Given the description of an element on the screen output the (x, y) to click on. 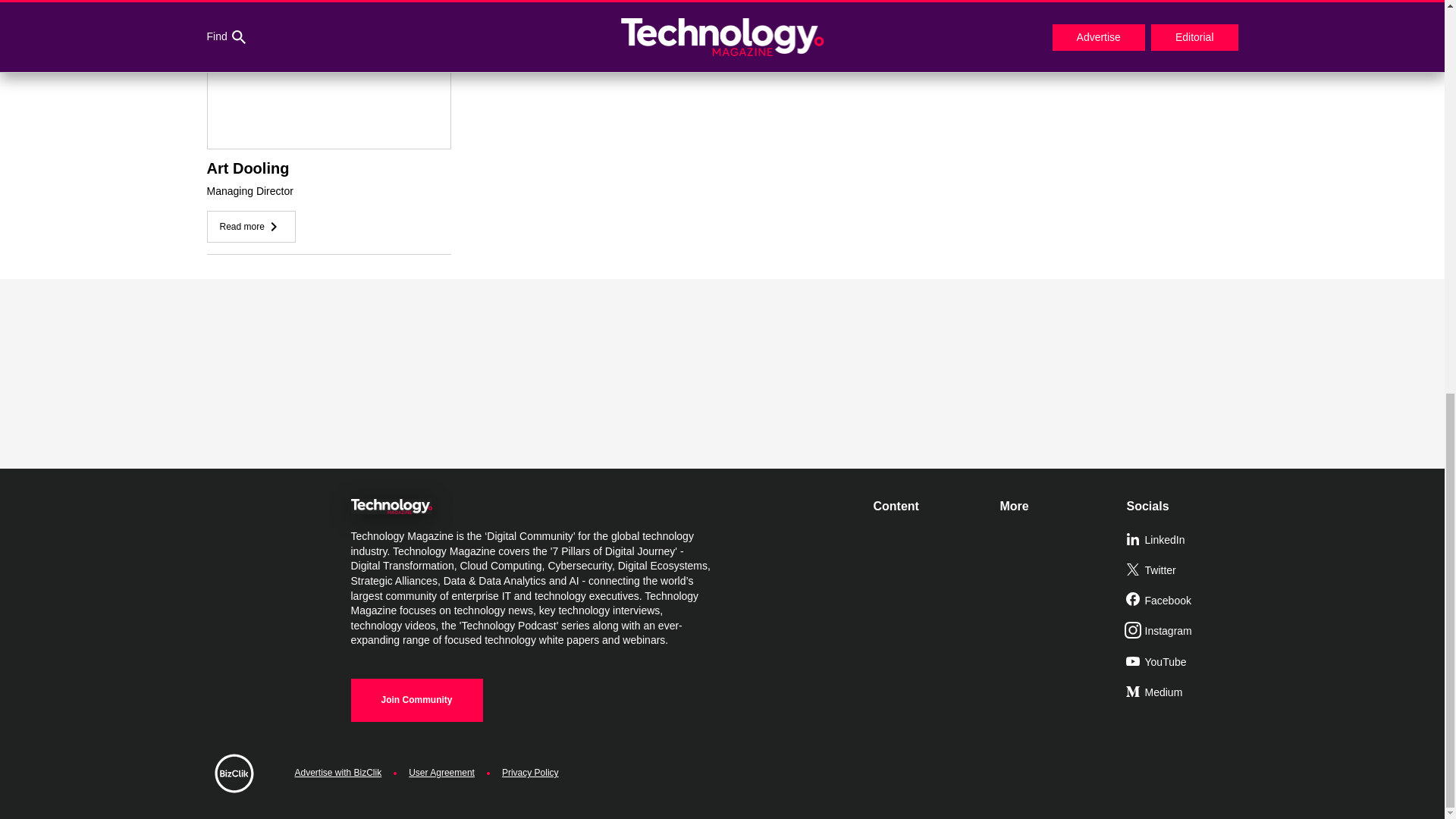
Facebook (1182, 601)
Advertise with BizClik (337, 772)
YouTube (1182, 662)
Medium (1182, 693)
User Agreement (441, 772)
Privacy Policy (530, 772)
Twitter (1182, 571)
LinkedIn (1182, 540)
Join Community (415, 699)
Instagram (1182, 631)
